Given the description of an element on the screen output the (x, y) to click on. 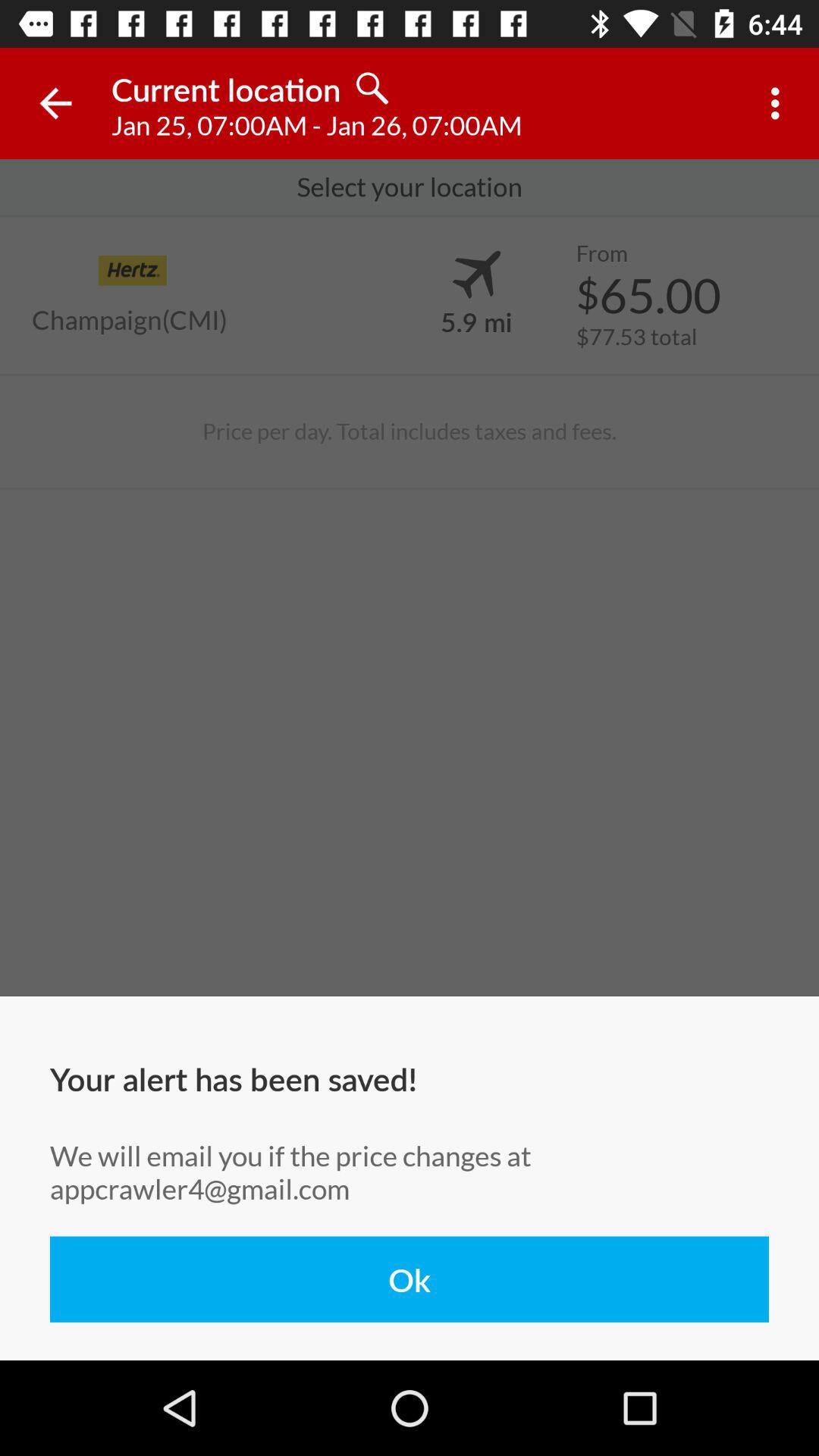
select icon above the select your location item (779, 103)
